Given the description of an element on the screen output the (x, y) to click on. 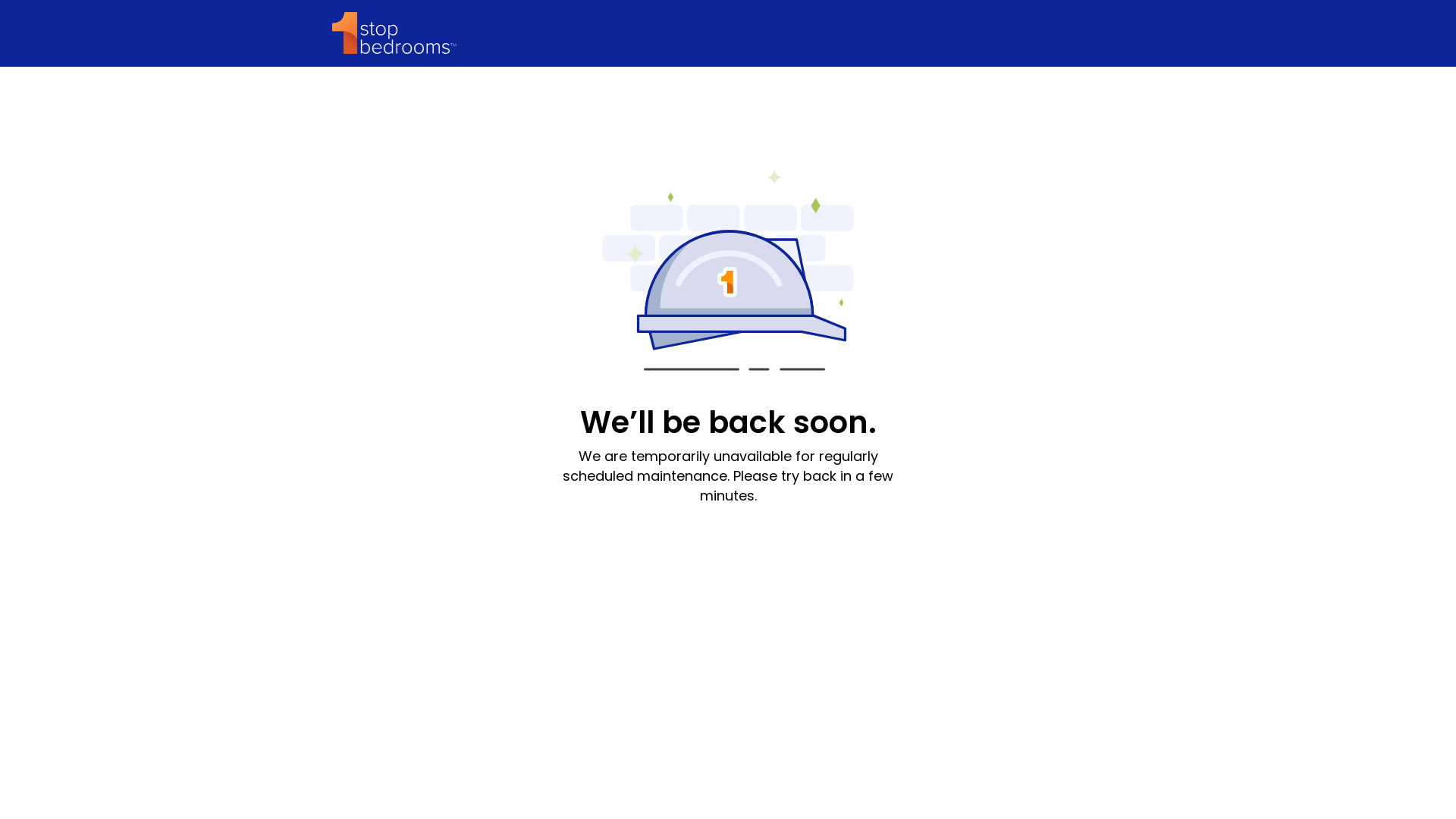
1StopBedrooms Element type: hover (393, 33)
